Given the description of an element on the screen output the (x, y) to click on. 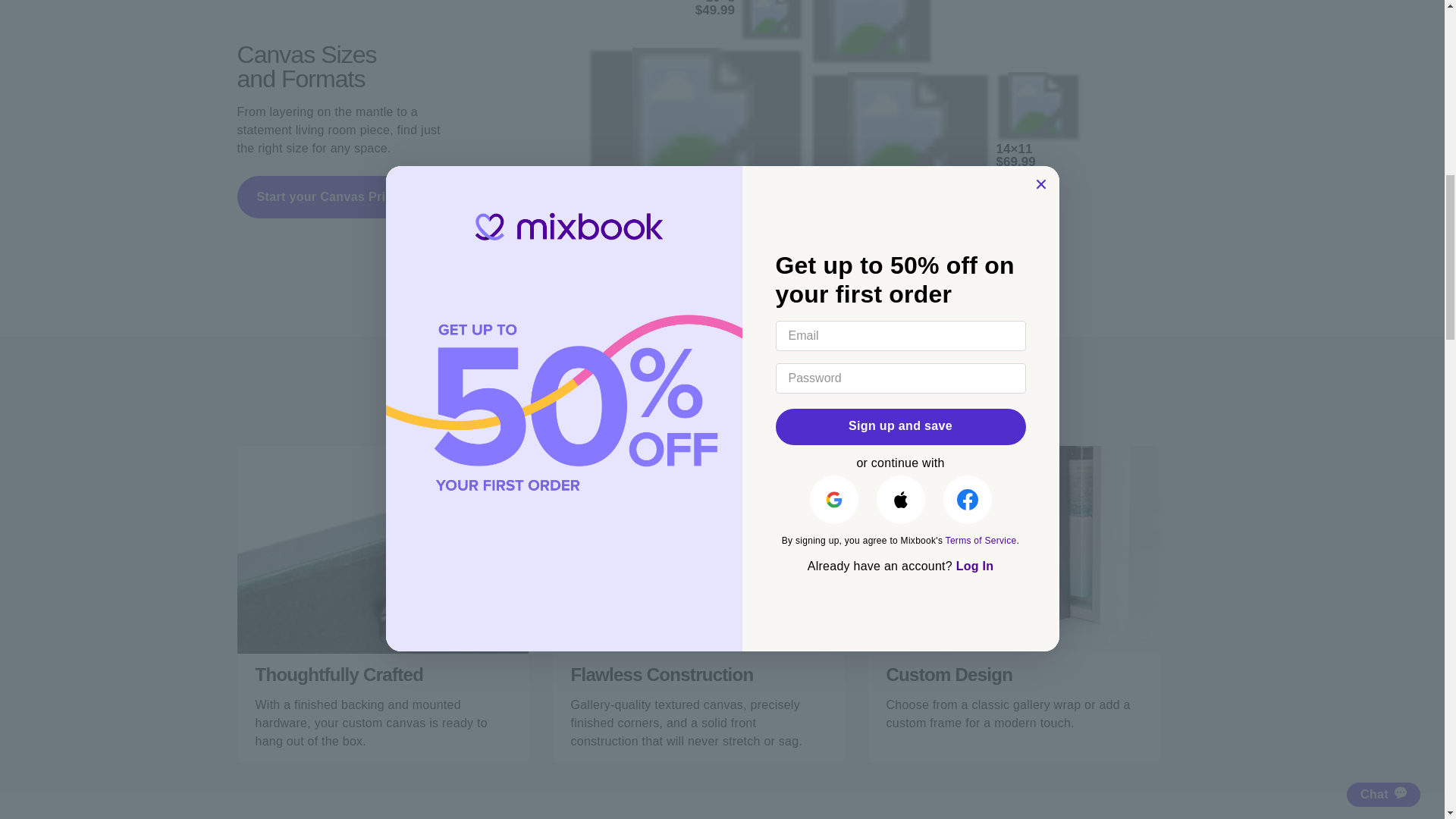
Custom Design (1012, 549)
Thoughtfully Crafted (381, 549)
Flawless Construction (697, 549)
Start your Canvas Print (325, 197)
